Given the description of an element on the screen output the (x, y) to click on. 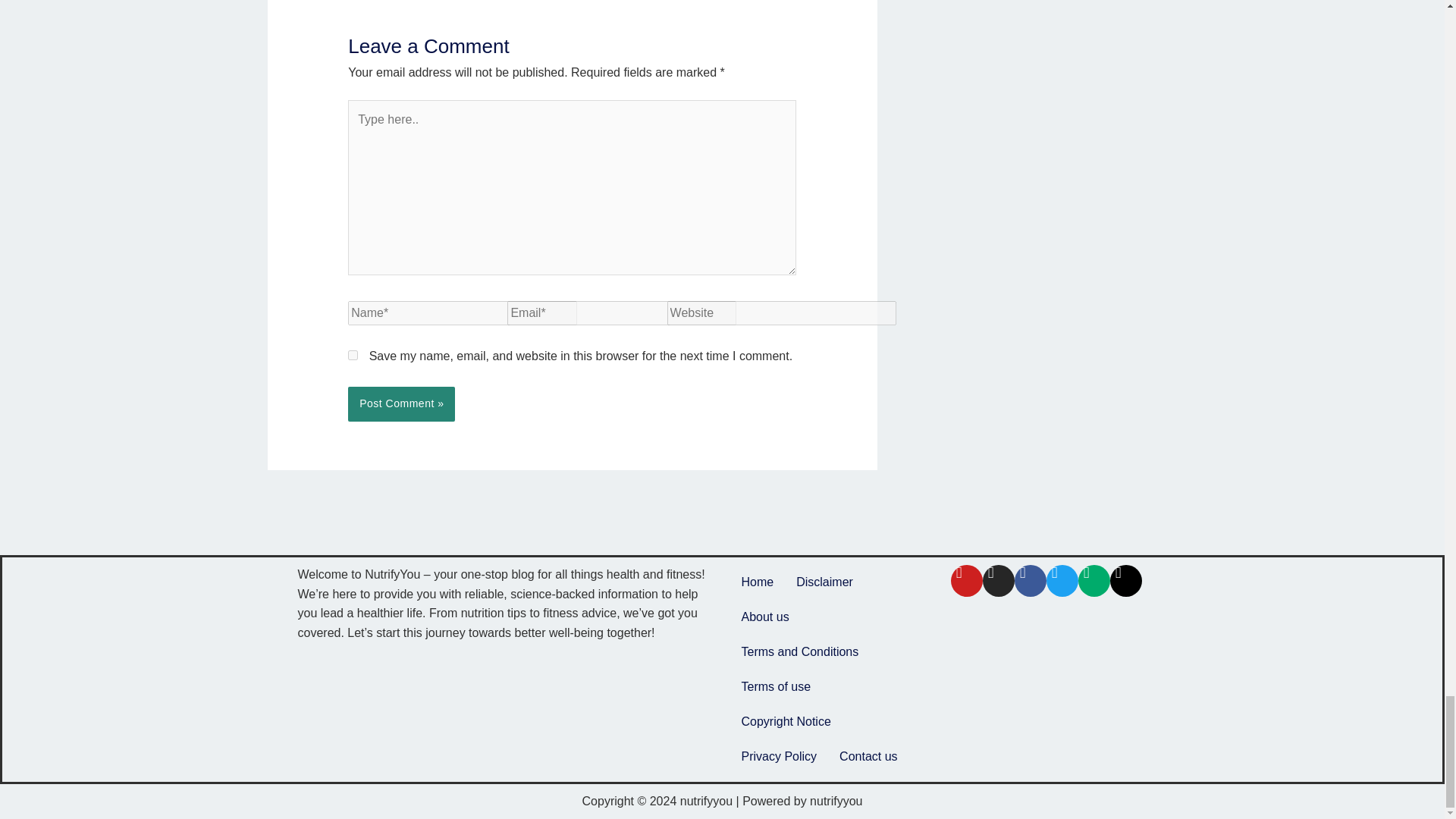
yes (352, 355)
